Given the description of an element on the screen output the (x, y) to click on. 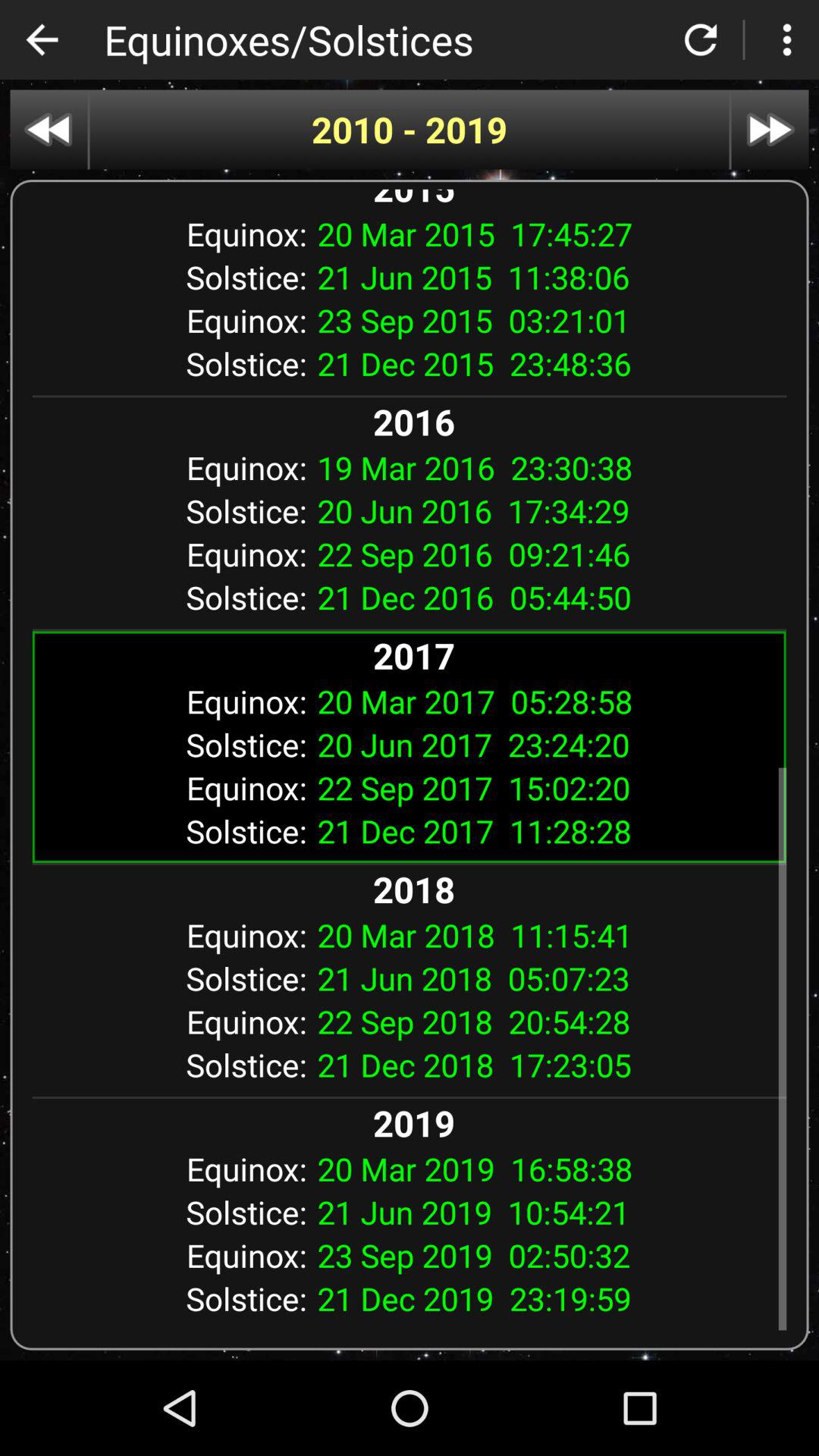
it 's a circle with an arrow on it that indicates a page refresh when pressed (700, 39)
